Given the description of an element on the screen output the (x, y) to click on. 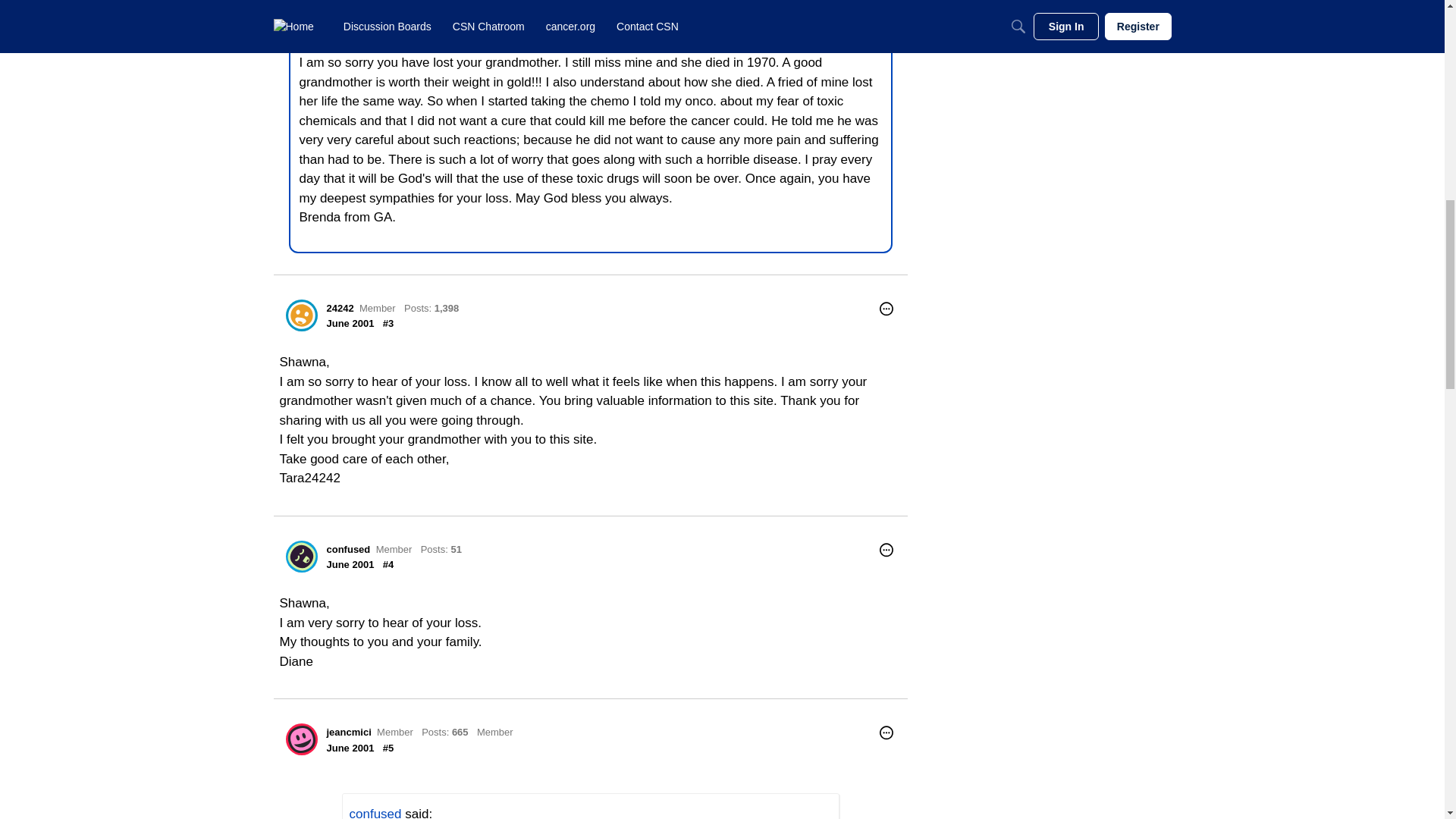
bdean (320, 6)
confused (375, 812)
June 6, 2001 4:25AM (350, 564)
June 2001 (350, 747)
confused (301, 556)
June 2001 (369, 5)
jeancmici (348, 731)
June 5, 2001 11:34PM (369, 5)
24242 (339, 307)
June 2001 (350, 323)
24242 (301, 315)
June 6, 2001 5:06AM (350, 747)
June 6, 2001 12:21AM (350, 323)
jeancmici (301, 739)
June 2001 (350, 564)
